Given the description of an element on the screen output the (x, y) to click on. 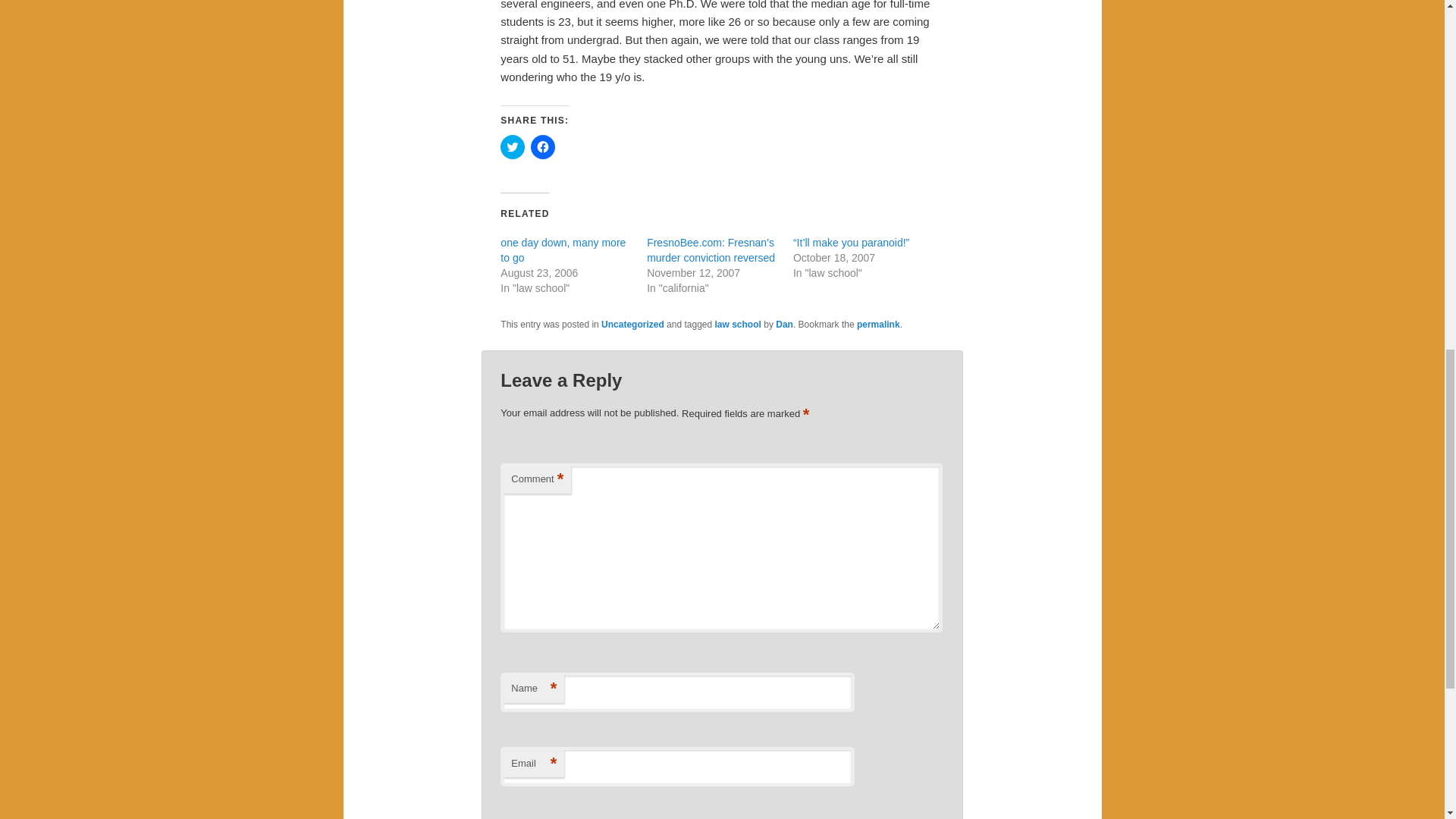
one day down, many more to go (563, 249)
law school (737, 324)
Dan (784, 324)
permalink (878, 324)
one day down, many more to go (563, 249)
Uncategorized (632, 324)
Click to share on Facebook (542, 146)
Click to share on Twitter (512, 146)
Permalink to Law school orientation, day 2 (878, 324)
